Given the description of an element on the screen output the (x, y) to click on. 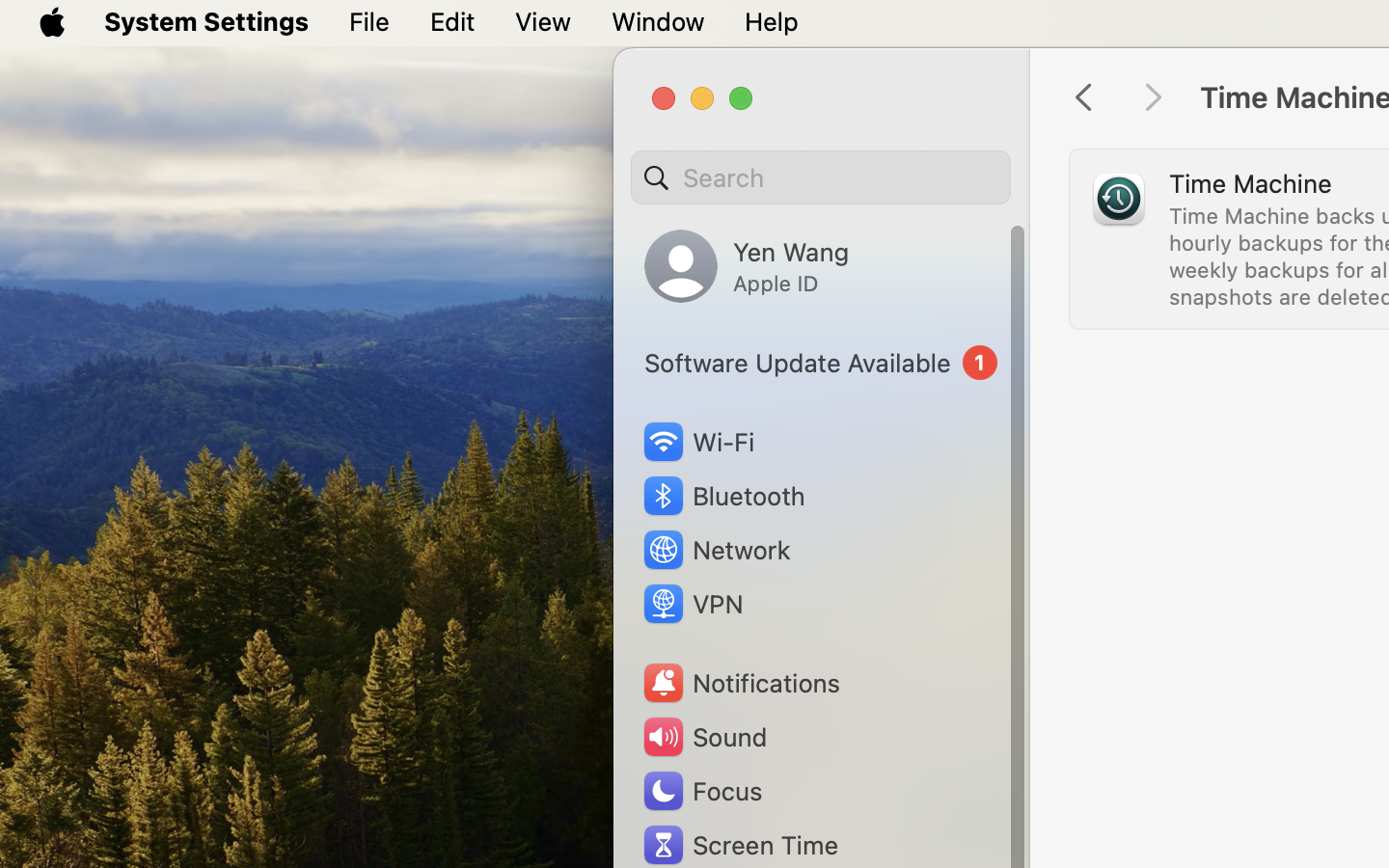
Bluetooth Element type: AXStaticText (723, 495)
Notifications Element type: AXStaticText (740, 682)
Time Machine Element type: AXStaticText (1250, 182)
VPN Element type: AXStaticText (691, 603)
Screen Time Element type: AXStaticText (739, 844)
